Given the description of an element on the screen output the (x, y) to click on. 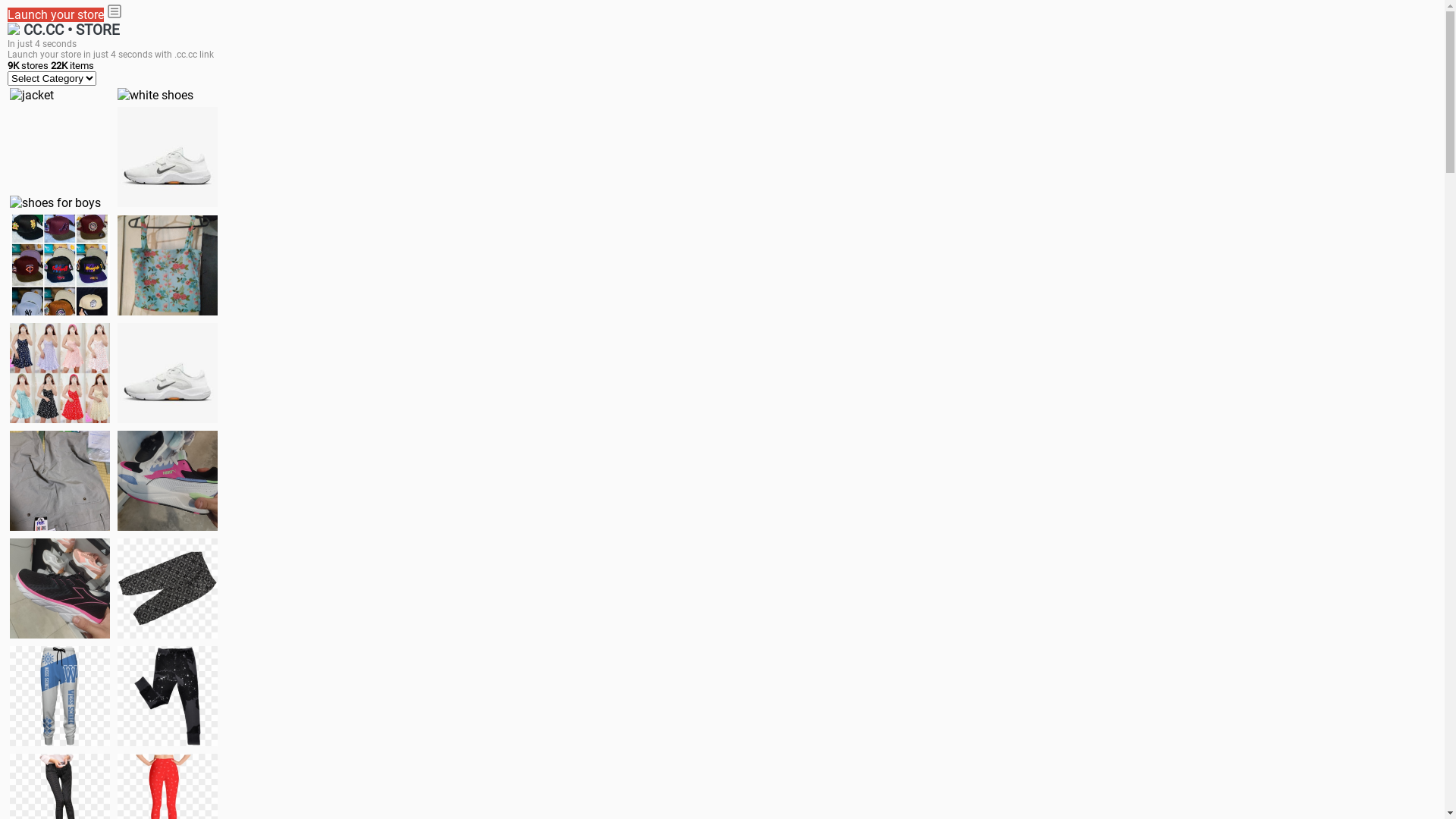
Launch your store Element type: text (55, 14)
Zapatillas Element type: hover (59, 588)
Shoes for boys Element type: hover (167, 156)
Pant Element type: hover (59, 696)
jacket Element type: hover (31, 94)
Ukay cloth Element type: hover (167, 265)
shoes for boys Element type: hover (54, 202)
white shoes Element type: hover (155, 94)
Dress/square nect top Element type: hover (59, 373)
Things we need Element type: hover (59, 264)
Shoes Element type: hover (167, 373)
Zapatillas pumas Element type: hover (167, 480)
Pant Element type: hover (167, 696)
Short pant Element type: hover (167, 588)
